Given the description of an element on the screen output the (x, y) to click on. 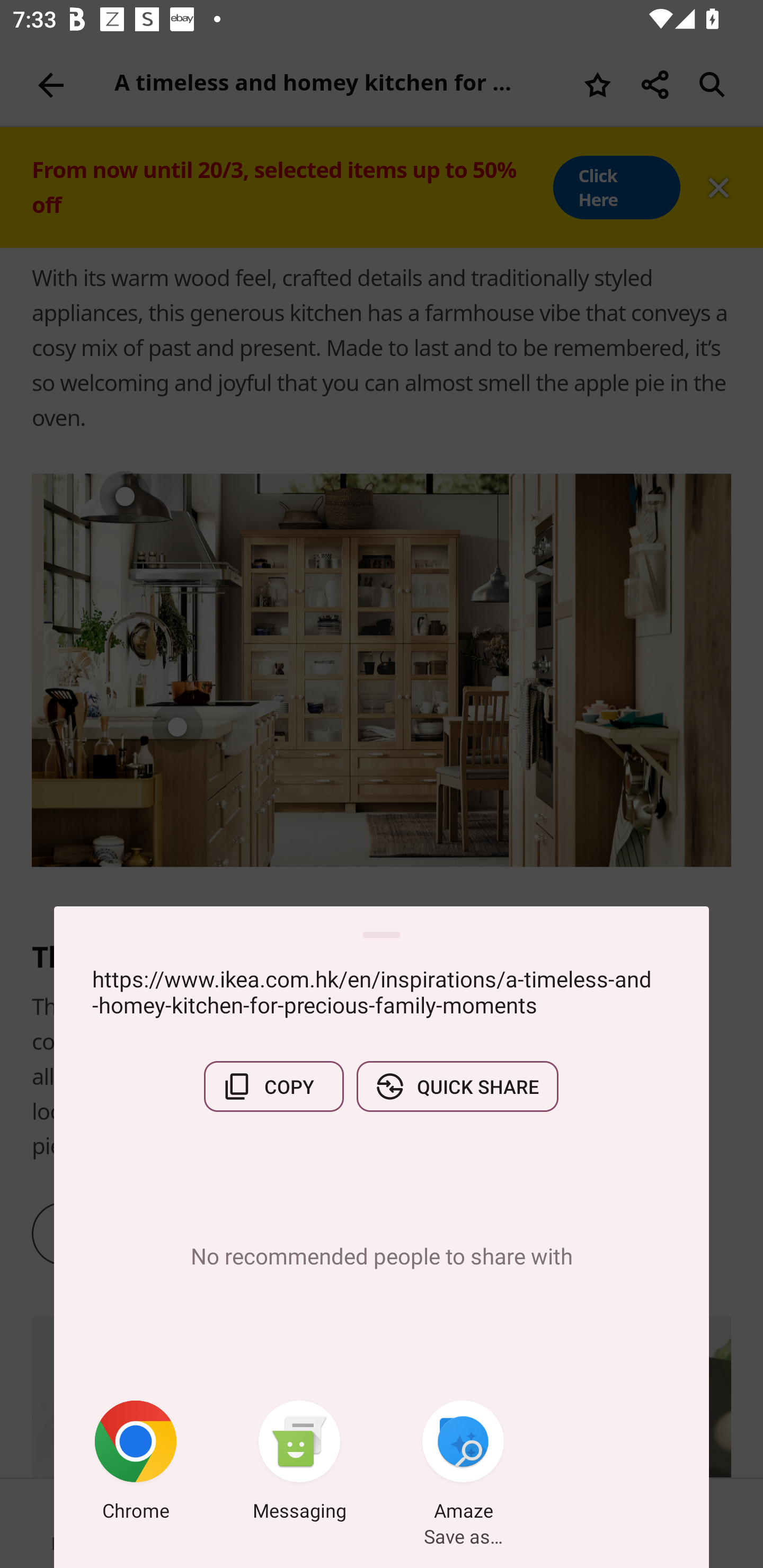
COPY (273, 1086)
QUICK SHARE (457, 1086)
Chrome (135, 1463)
Messaging (299, 1463)
Amaze Save as… (463, 1463)
